Given the description of an element on the screen output the (x, y) to click on. 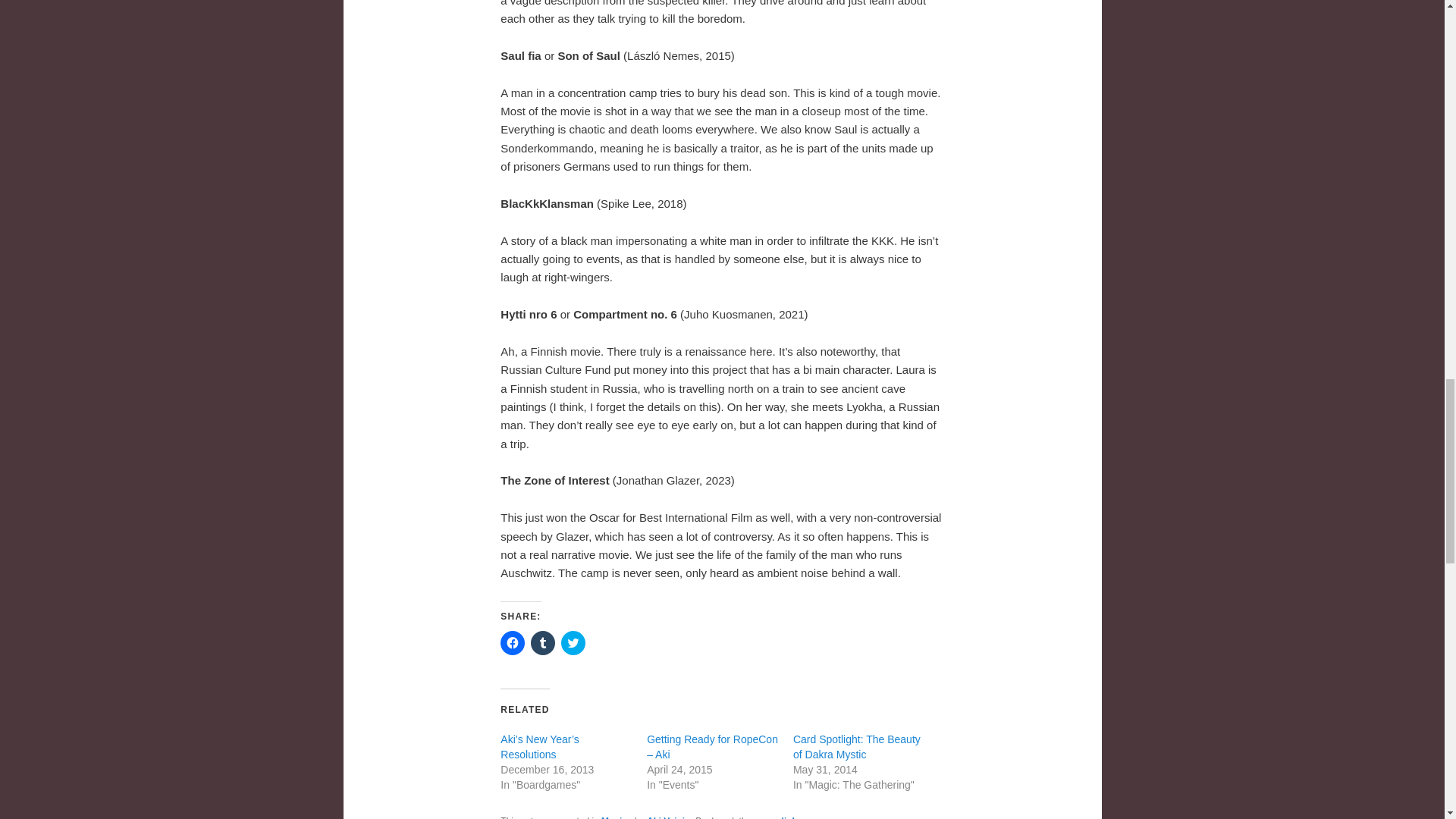
Aki Vainio (668, 817)
Click to share on Twitter (572, 642)
Card Spotlight: The Beauty of Dakra Mystic (856, 746)
Card Spotlight: The Beauty of Dakra Mystic (856, 746)
Movies (616, 817)
Click to share on Facebook (512, 642)
Permalink to My Top 10 Favorite Grand Prix Winners at Cannes (775, 817)
permalink (775, 817)
Click to share on Tumblr (542, 642)
